Given the description of an element on the screen output the (x, y) to click on. 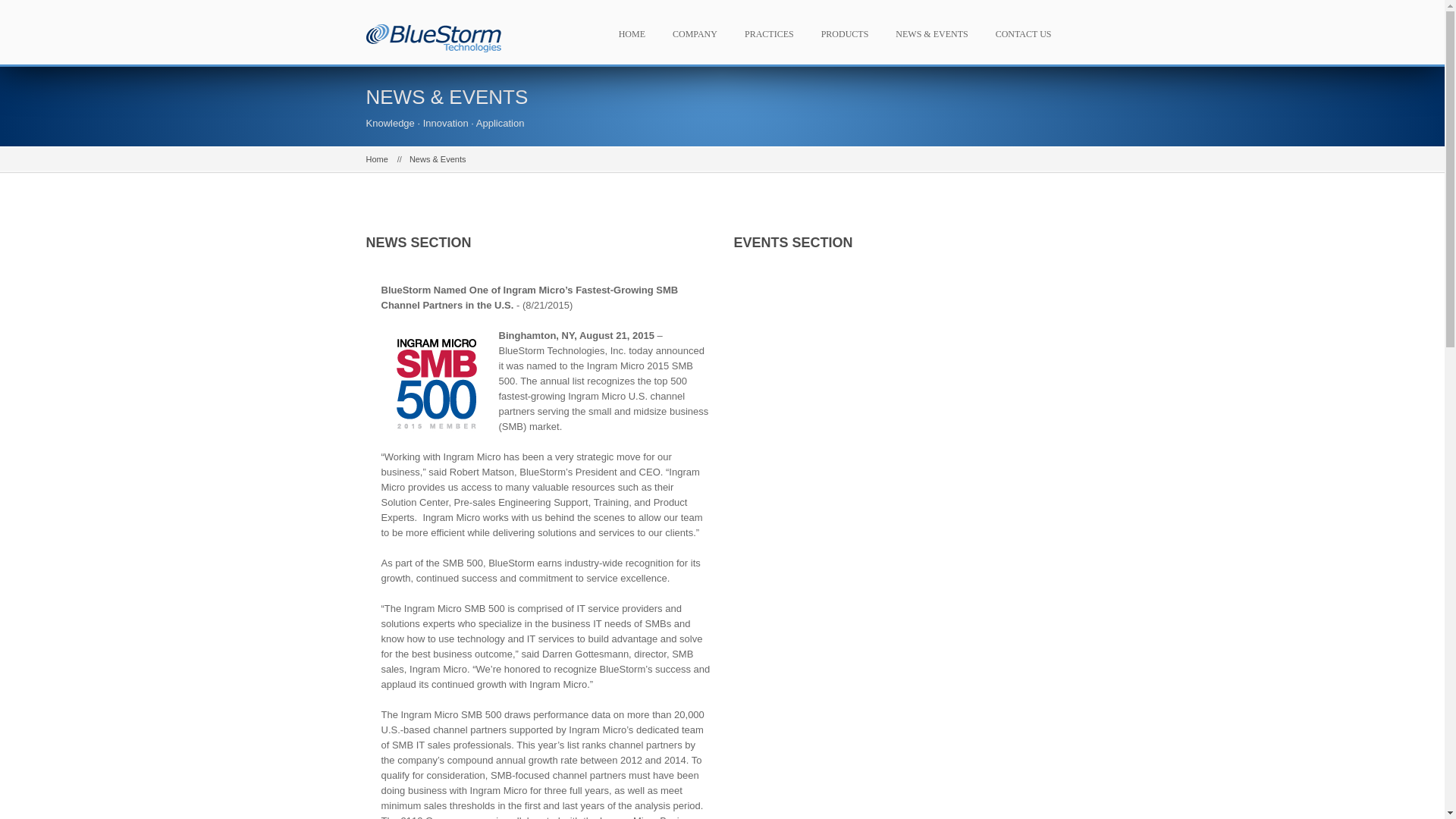
CONTACT US (1028, 32)
PRACTICES (773, 32)
Home (376, 158)
